Given the description of an element on the screen output the (x, y) to click on. 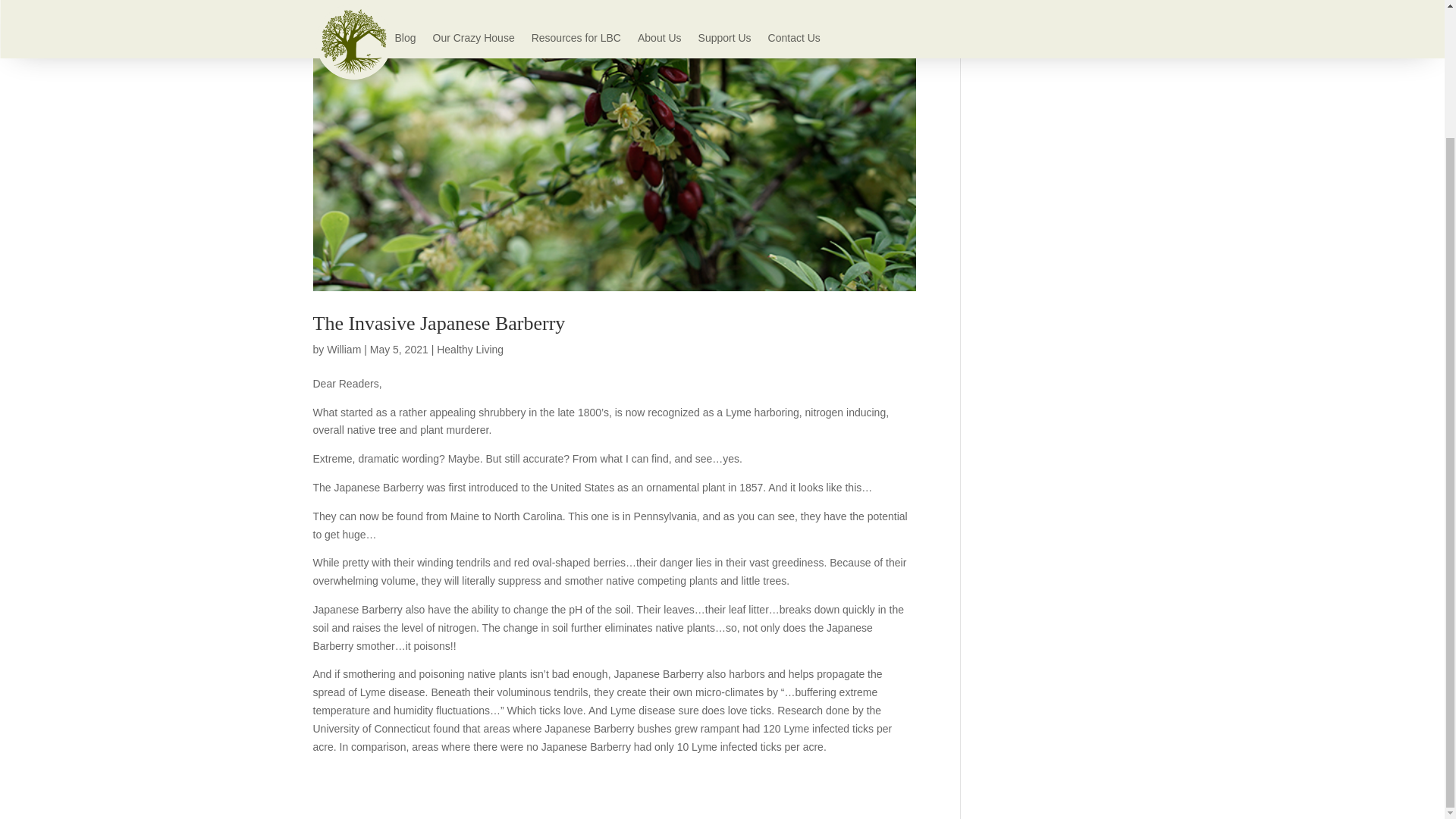
Posts by William (343, 349)
Healthy Living (469, 349)
The Invasive Japanese Barberry (438, 323)
William (343, 349)
